Given the description of an element on the screen output the (x, y) to click on. 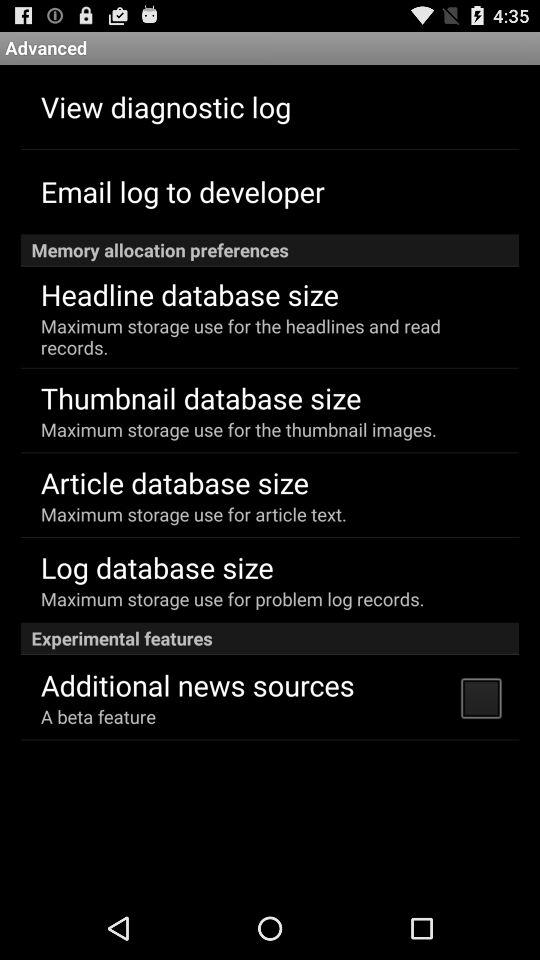
turn on app at the bottom (197, 684)
